Given the description of an element on the screen output the (x, y) to click on. 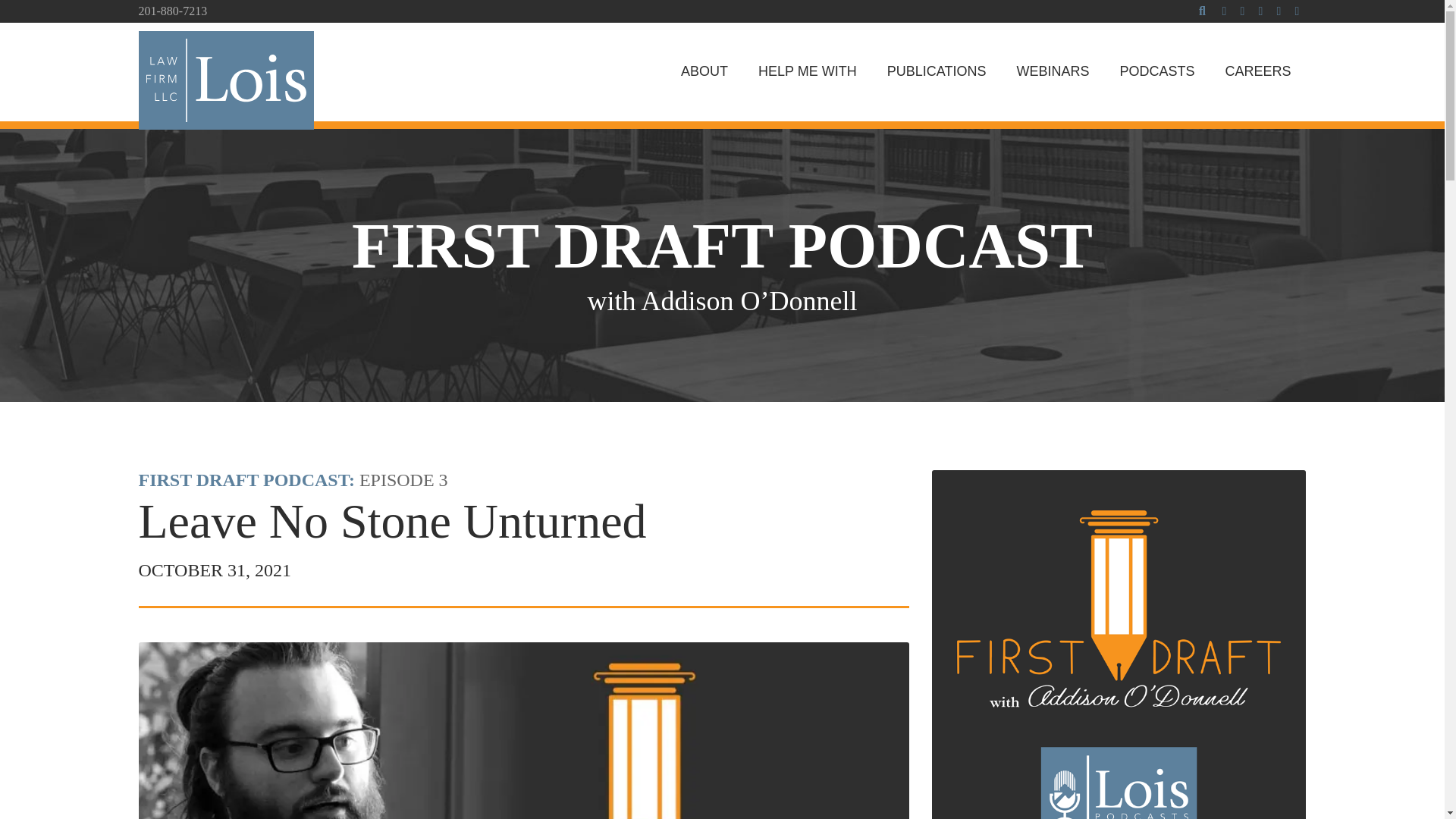
ABOUT (703, 71)
WEBINARS (1052, 71)
PODCASTS (1156, 71)
First Draft Podcast: Episode 3 (245, 479)
PUBLICATIONS (936, 71)
HELP ME WITH (807, 71)
Search (1201, 11)
